Given the description of an element on the screen output the (x, y) to click on. 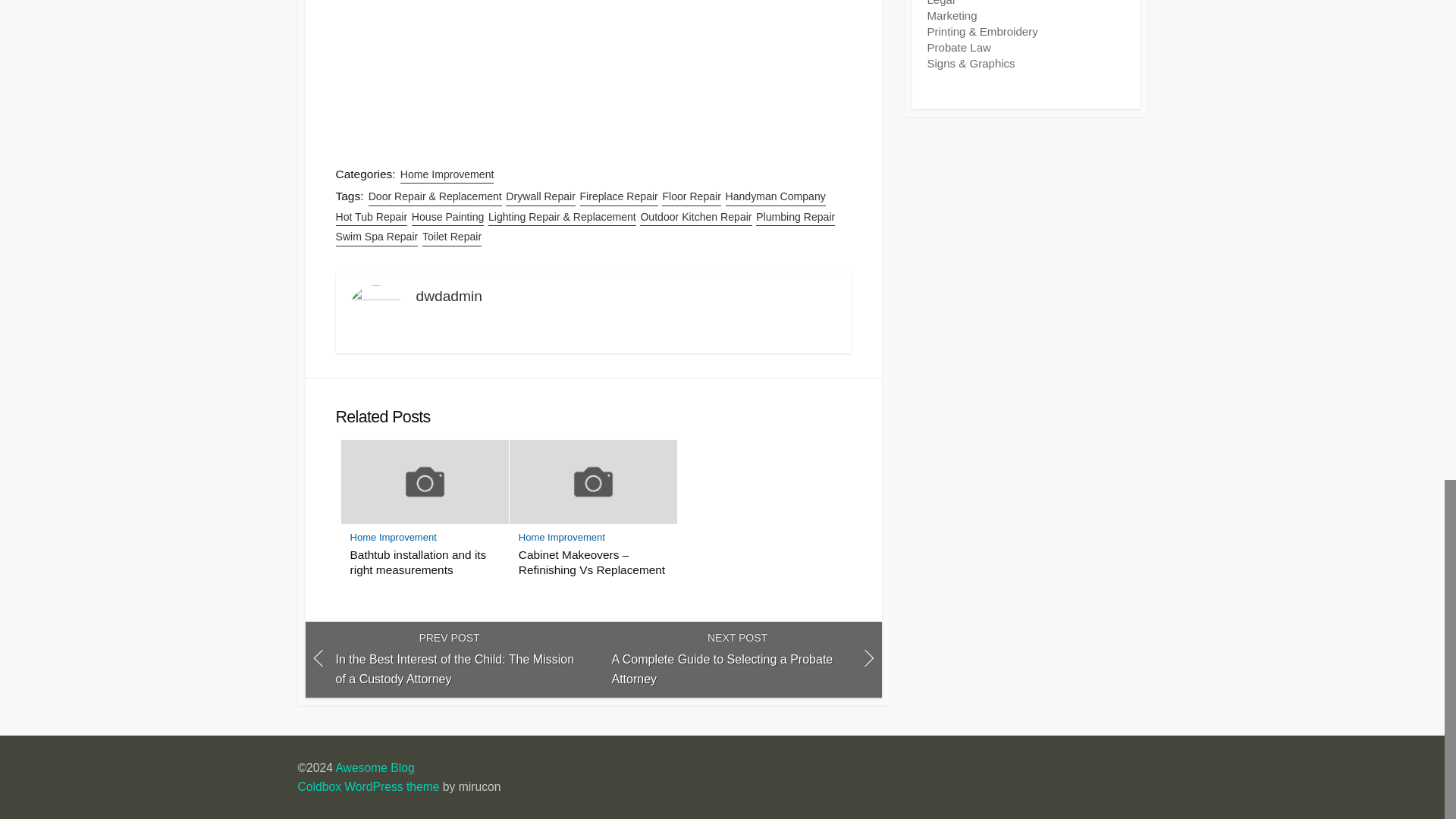
Hot Tub Repair (370, 217)
Home Improvement (561, 536)
Home Improvement (447, 174)
Handyman Company (775, 196)
Swim Spa Repair (375, 236)
Drywall Repair (540, 196)
Floor Repair (736, 659)
Fireplace Repair (691, 196)
